Given the description of an element on the screen output the (x, y) to click on. 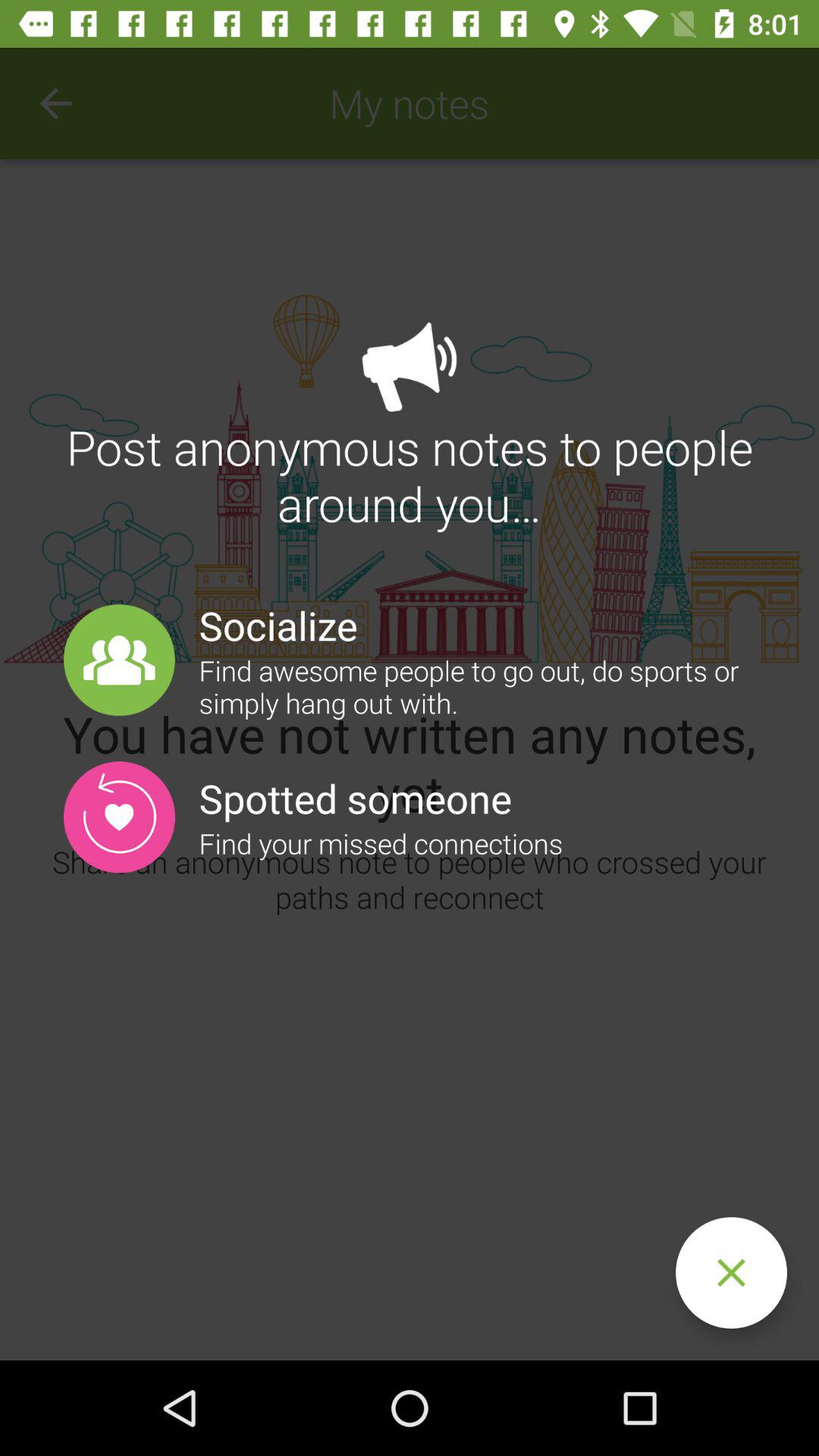
open icon at the bottom right corner (731, 1272)
